Given the description of an element on the screen output the (x, y) to click on. 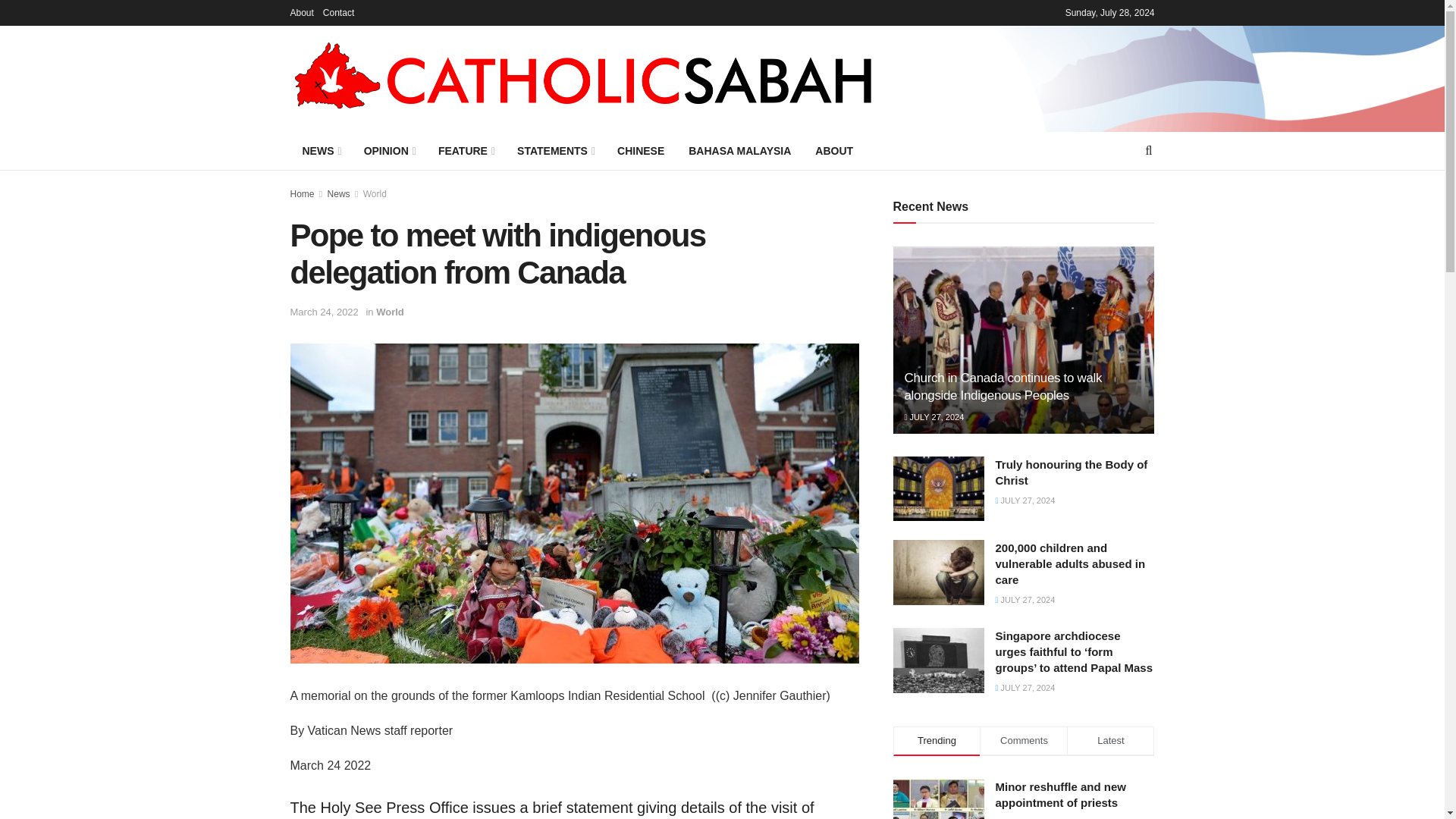
NEWS (319, 150)
About (301, 12)
Contact (338, 12)
OPINION (389, 150)
